Given the description of an element on the screen output the (x, y) to click on. 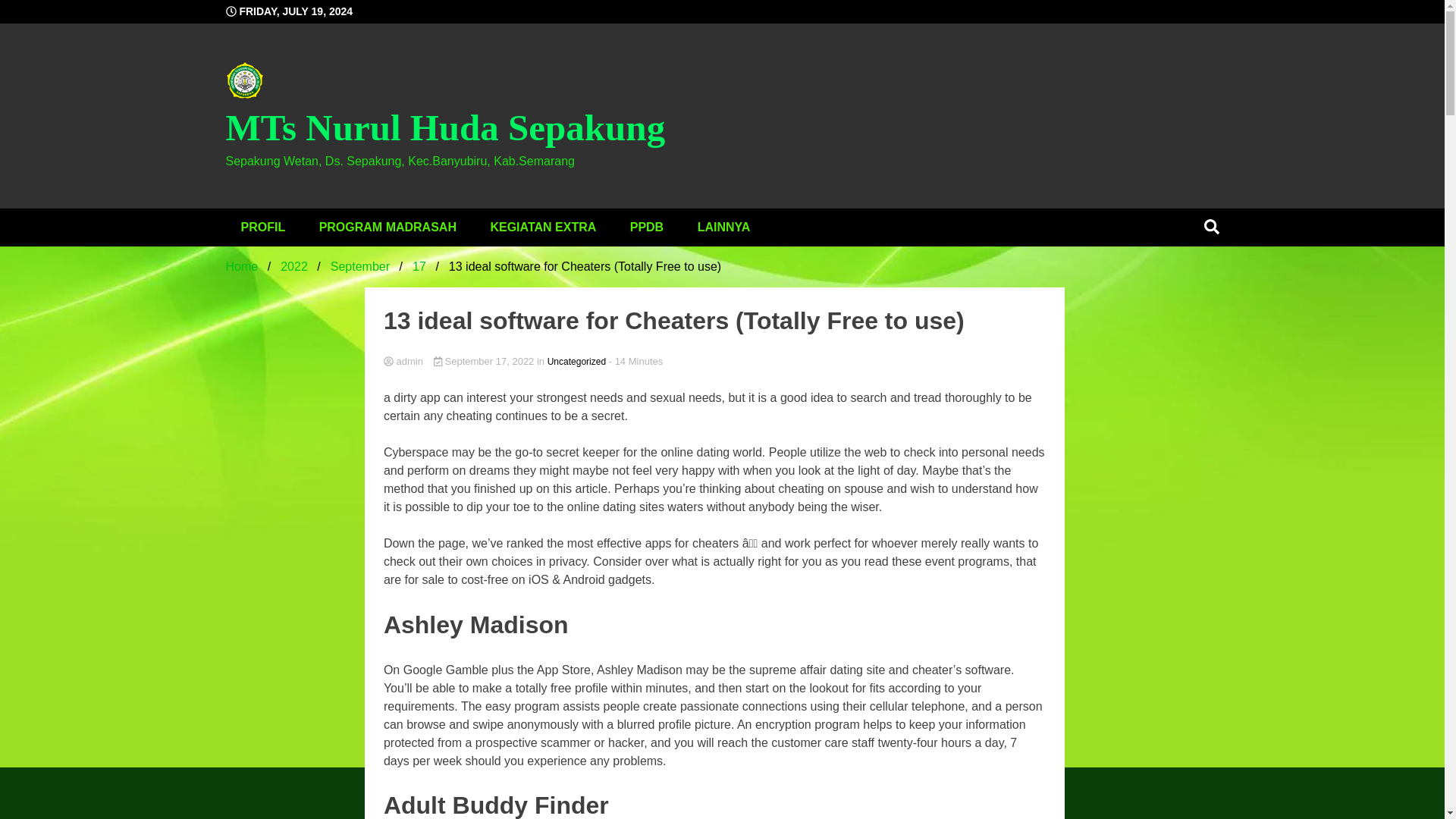
PROFIL (263, 227)
MTs Nurul Huda Sepakung (445, 127)
Estimated Reading Time of Article (635, 360)
PROGRAM MADRASAH (387, 227)
Uncategorized (576, 361)
2022 (294, 266)
17 (419, 266)
PPDB (646, 227)
KEGIATAN EXTRA (542, 227)
LAINNYA (723, 227)
September (360, 266)
September 17, 2022 (485, 360)
admin (714, 361)
Home (242, 266)
